Given the description of an element on the screen output the (x, y) to click on. 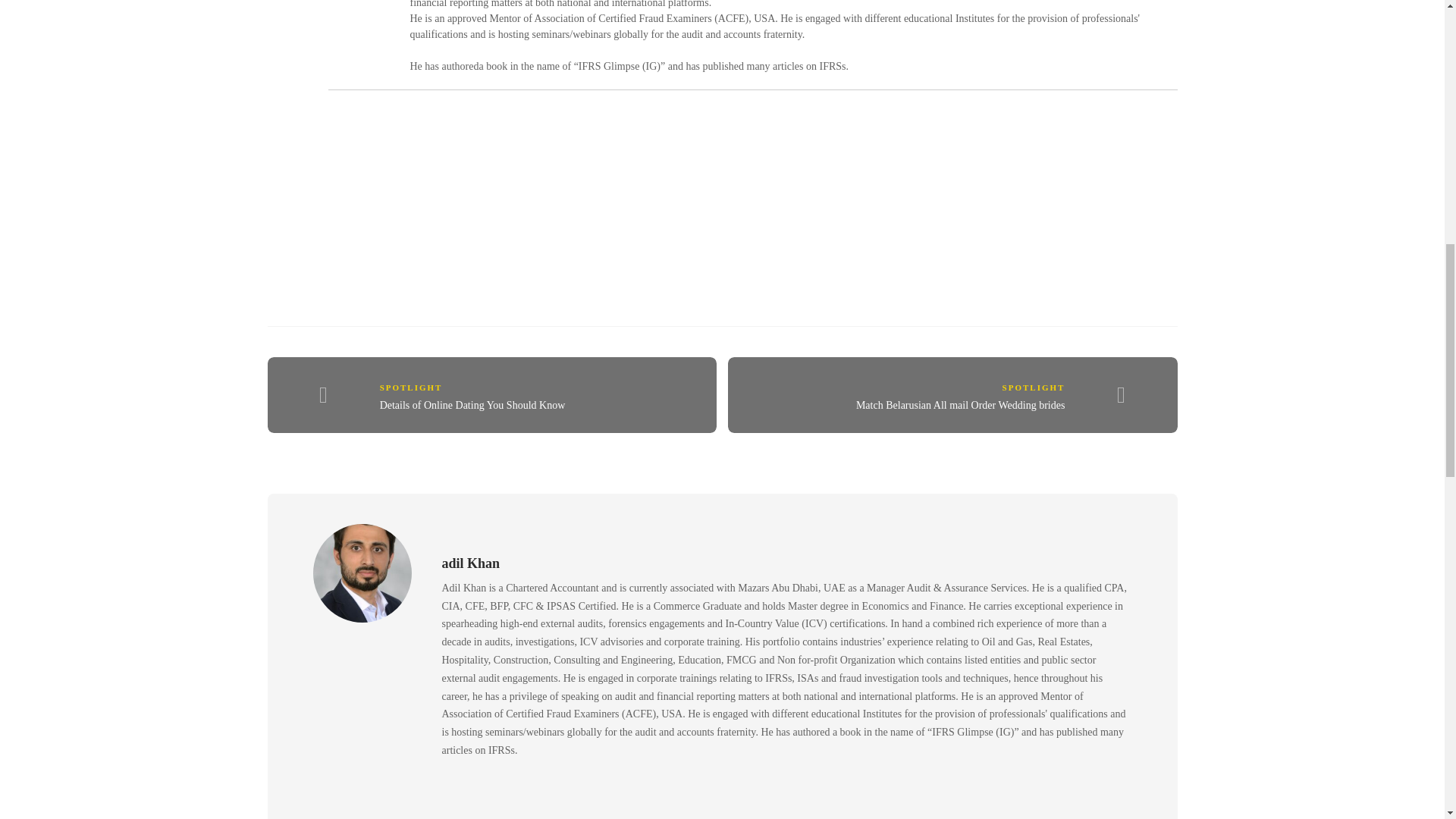
Advertisement (751, 190)
